Given the description of an element on the screen output the (x, y) to click on. 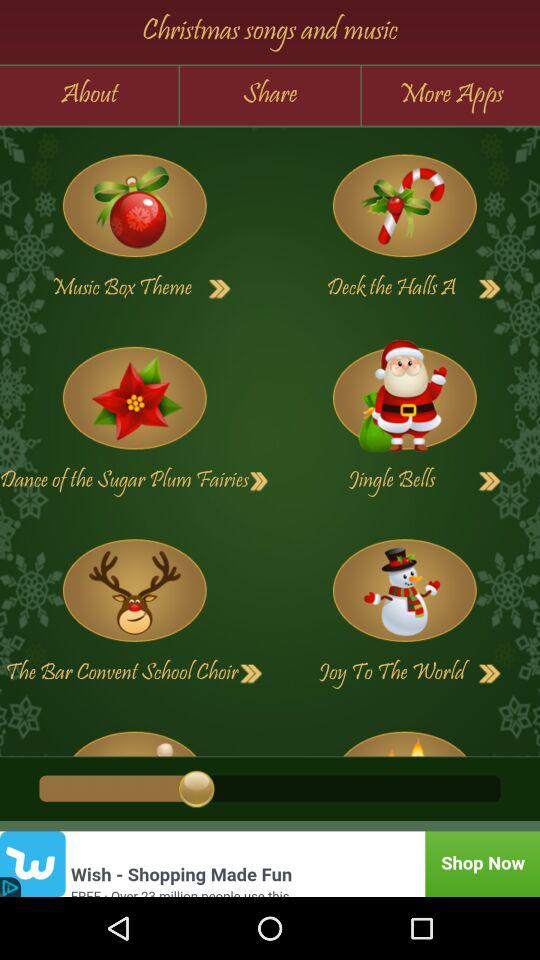
game option (134, 205)
